Given the description of an element on the screen output the (x, y) to click on. 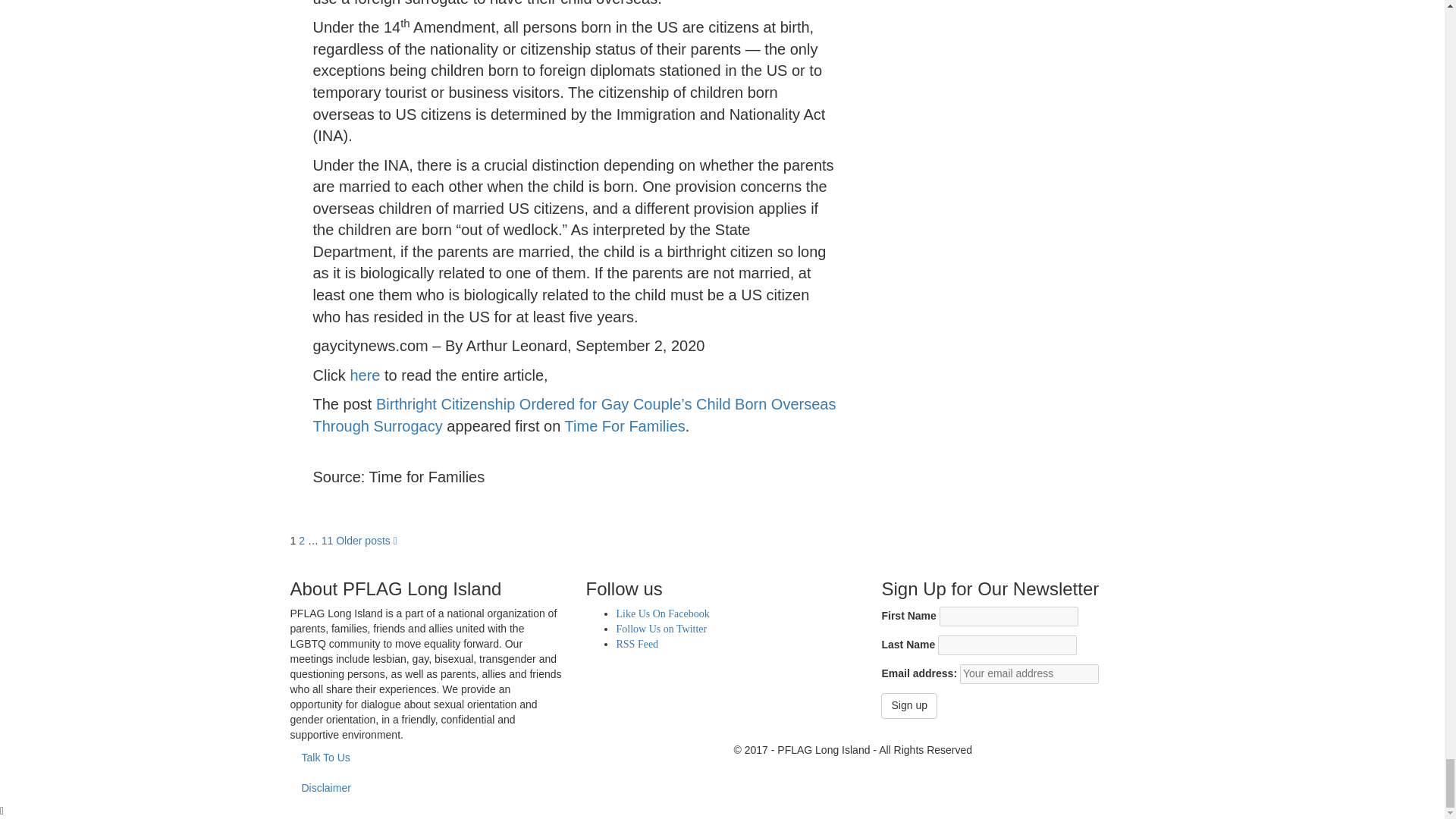
Sign up (908, 705)
